Given the description of an element on the screen output the (x, y) to click on. 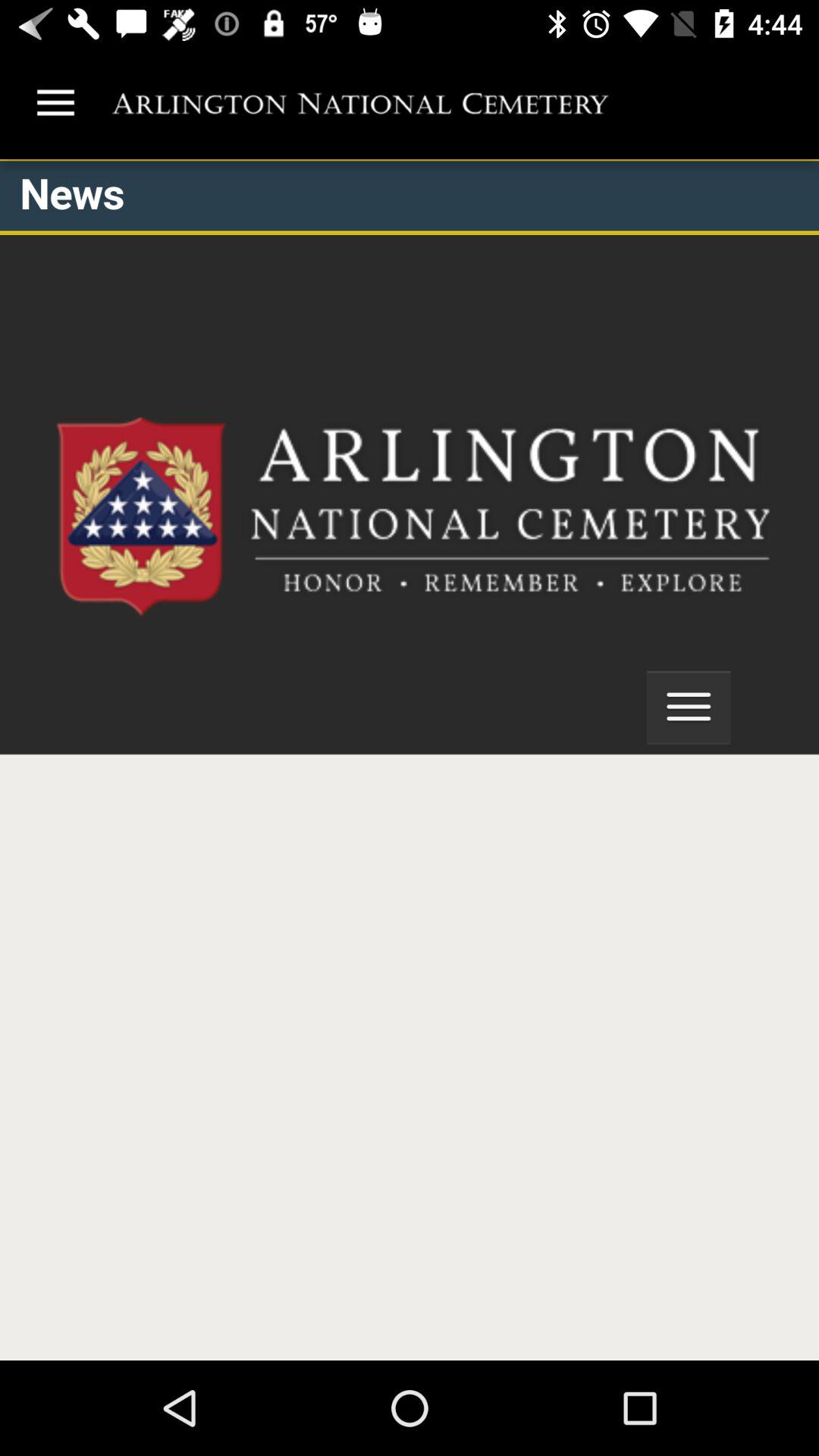
arlington national cemetery mobile site (409, 759)
